Given the description of an element on the screen output the (x, y) to click on. 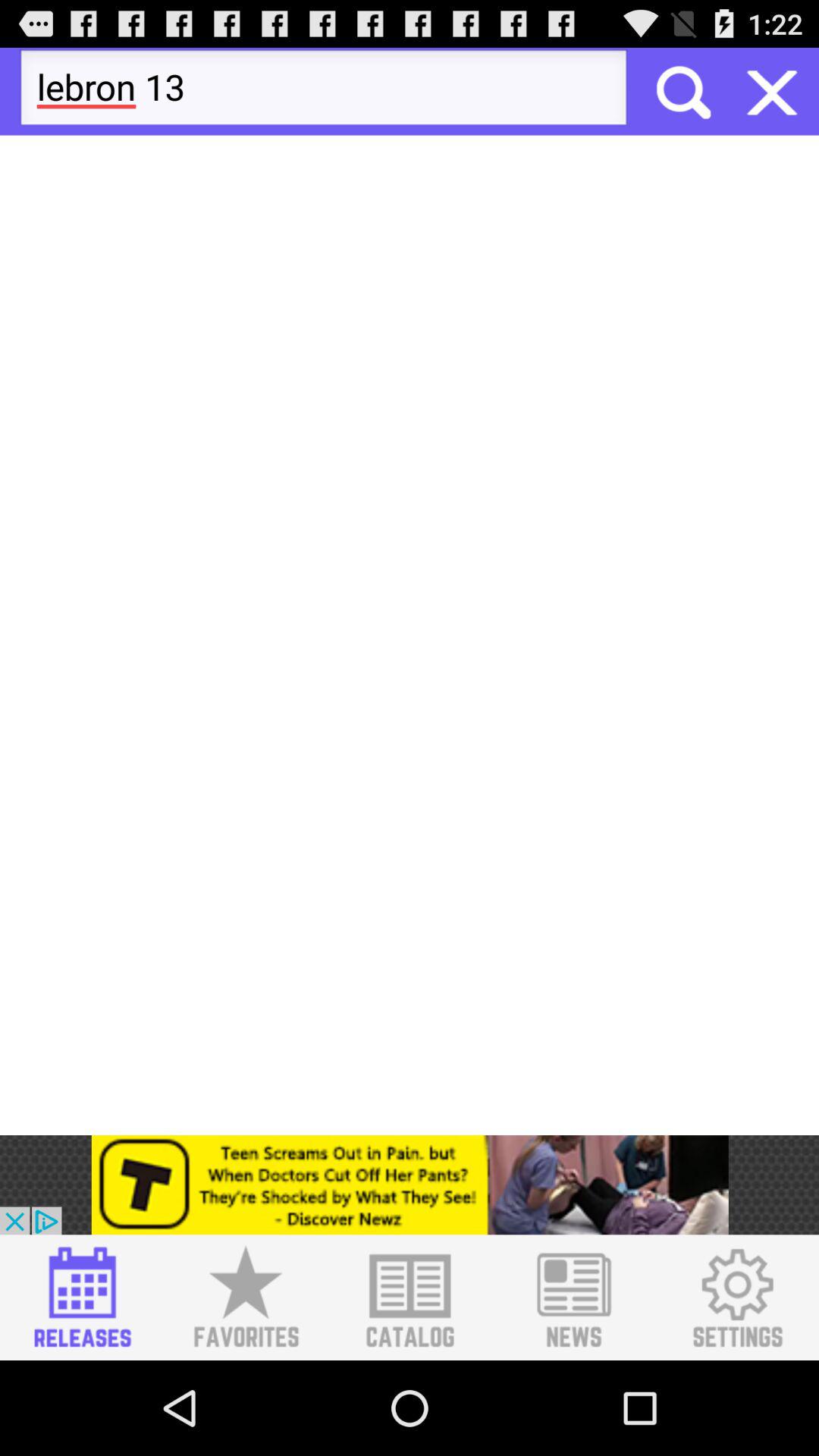
go to settings (737, 1297)
